Given the description of an element on the screen output the (x, y) to click on. 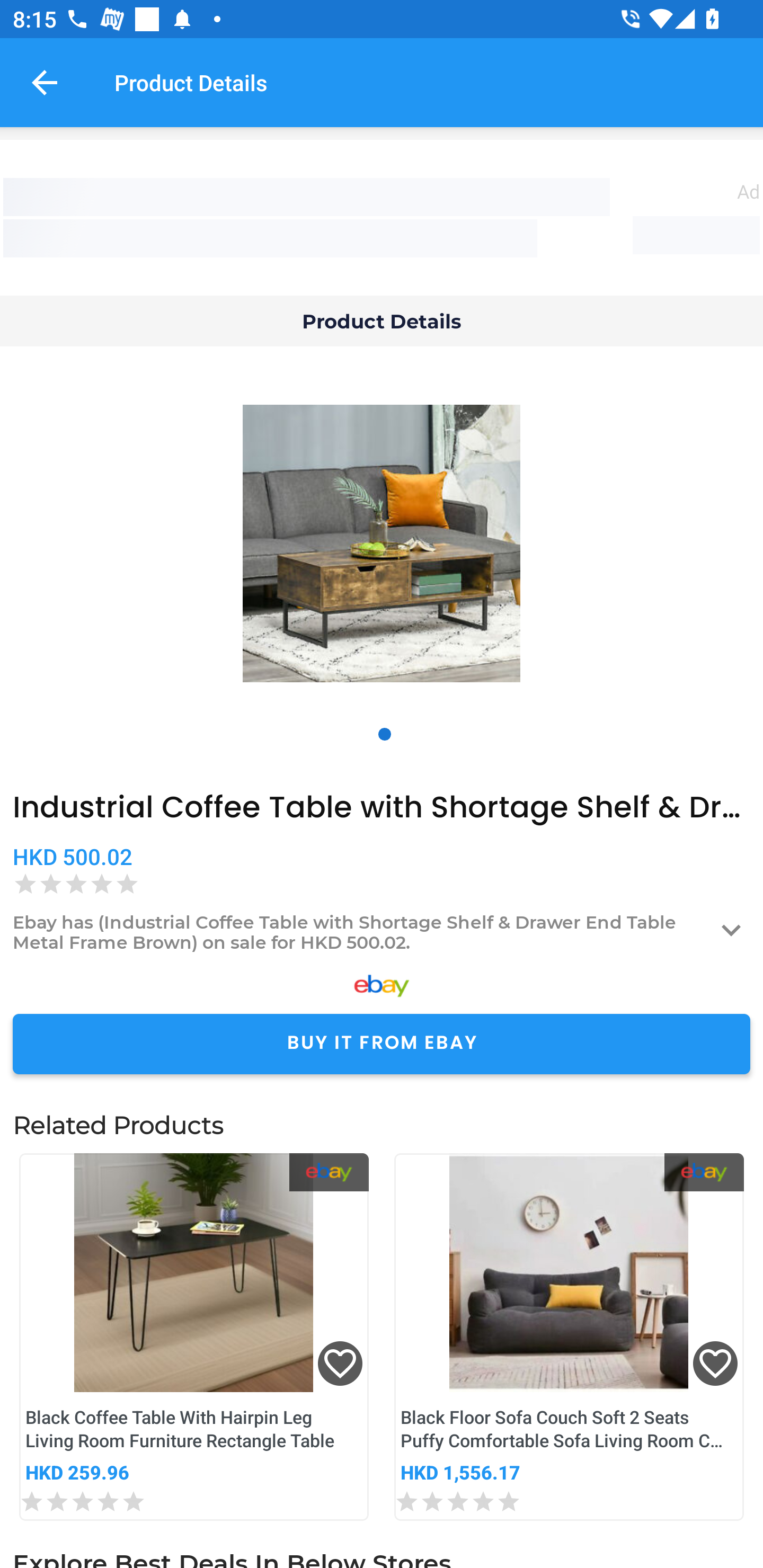
Navigate up (44, 82)
BUY IT FROM EBAY (381, 1044)
